Given the description of an element on the screen output the (x, y) to click on. 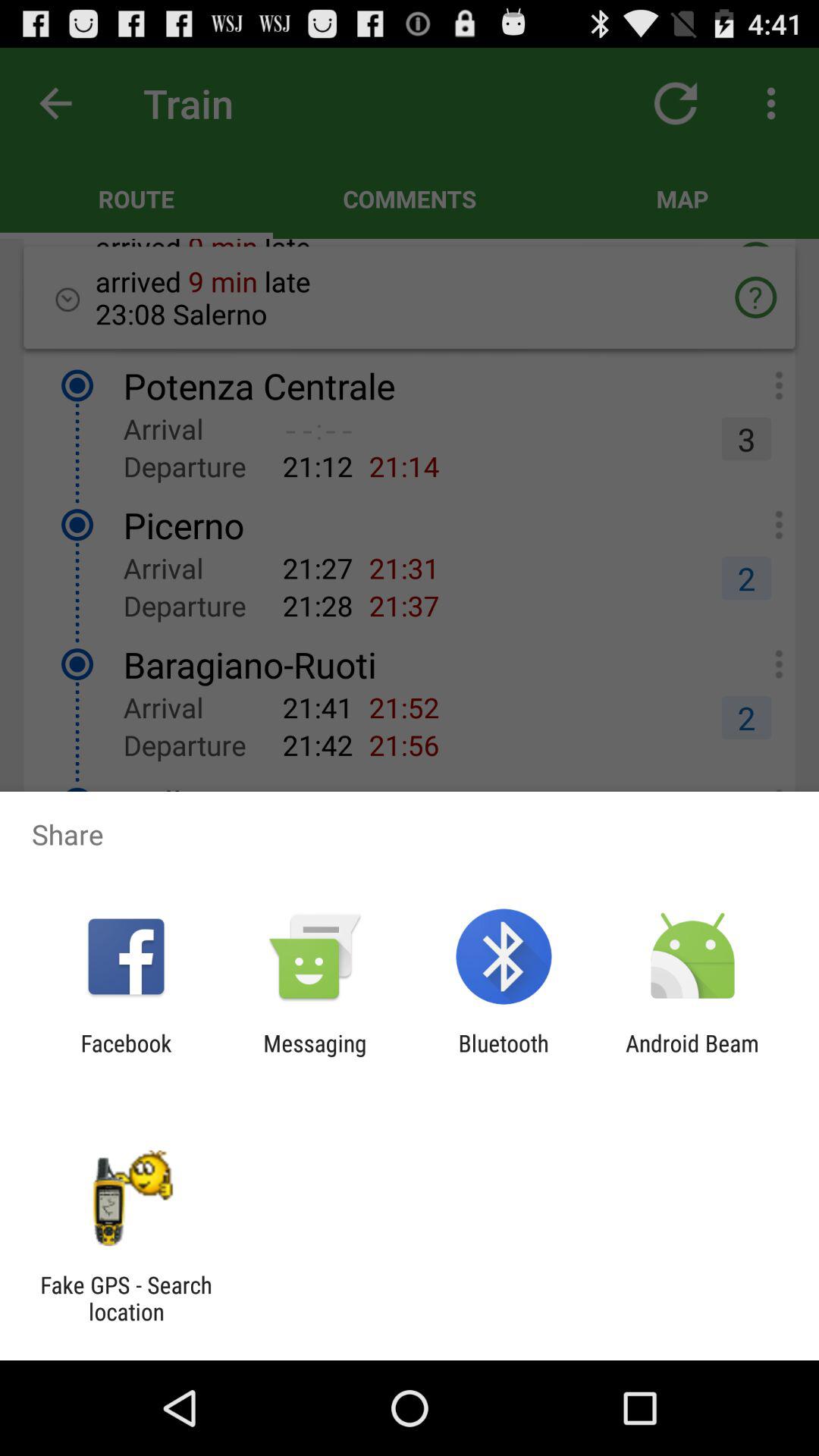
click the messaging icon (314, 1056)
